Given the description of an element on the screen output the (x, y) to click on. 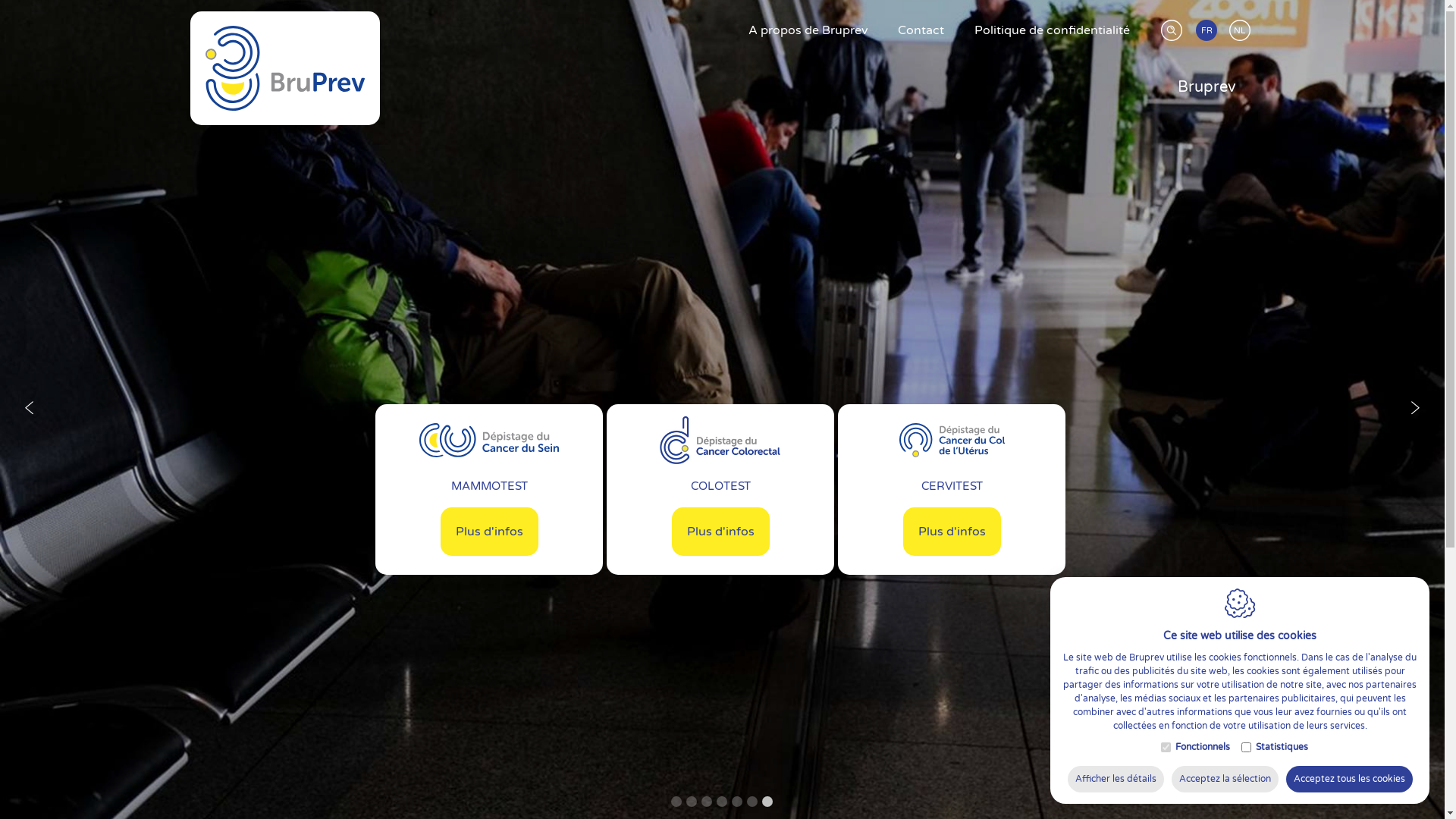
Acceptez tous les cookies Element type: text (1349, 778)
Contact Element type: text (920, 30)
FR Element type: text (1210, 34)
5 Element type: text (736, 801)
CERVITEST
Plus d'infos Element type: text (951, 489)
NL Element type: text (1243, 34)
Bruprev Element type: text (1205, 87)
MAMMOTEST
Plus d'infos Element type: text (488, 489)
4 Element type: text (720, 801)
COLOTEST
Plus d'infos Element type: text (720, 489)
2 Element type: text (690, 801)
6 Element type: text (751, 801)
1 Element type: text (675, 801)
A propos de Bruprev Element type: text (807, 30)
3 Element type: text (705, 801)
Rechercher Element type: hover (1165, 27)
7 Element type: text (766, 801)
